Given the description of an element on the screen output the (x, y) to click on. 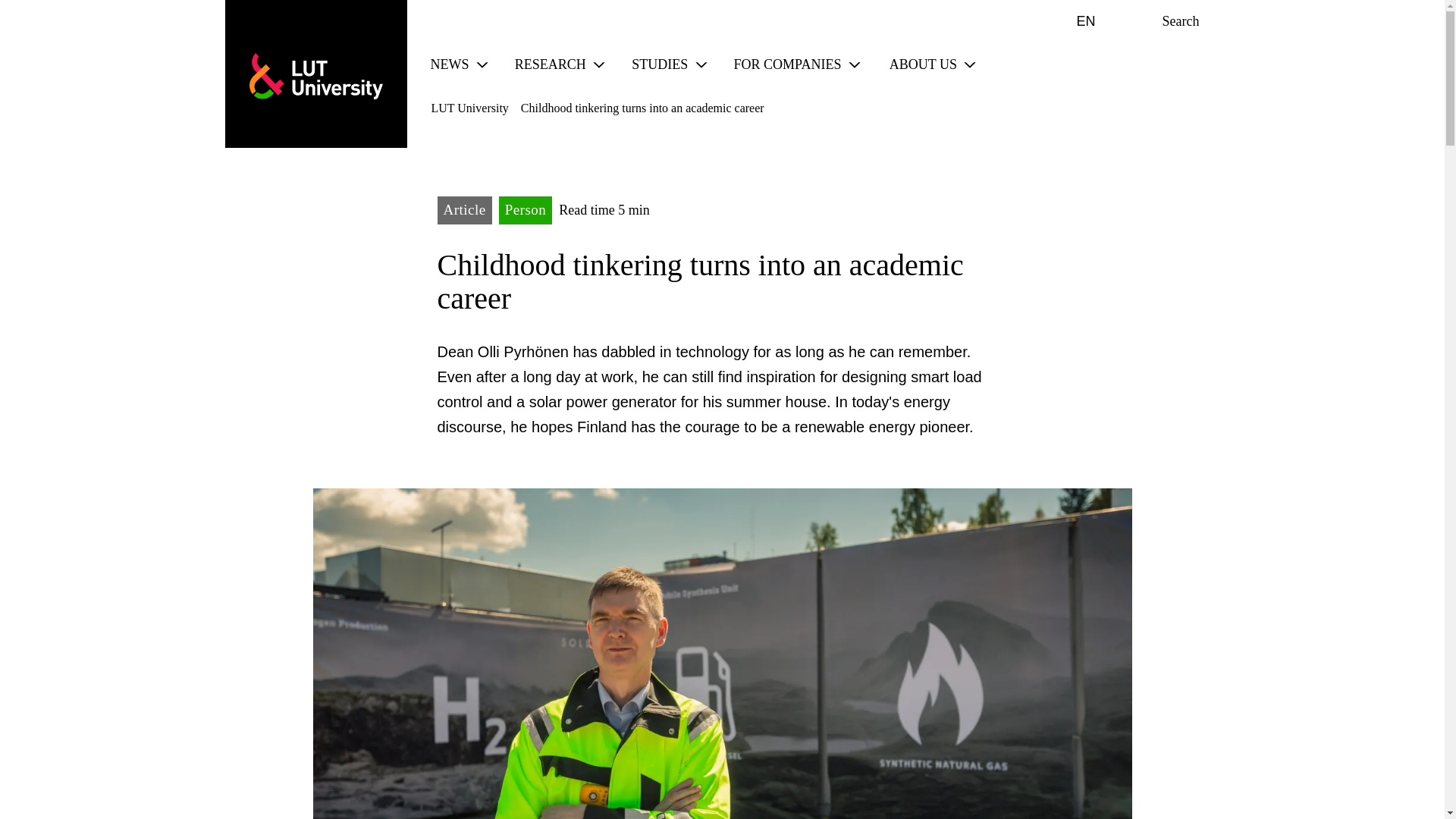
Open next menu level (482, 65)
Home page (314, 76)
Get to know us (918, 64)
RESEARCH (545, 64)
Open next menu level (598, 65)
NEWS (446, 64)
News and events (1074, 21)
Studies (446, 64)
Research (655, 64)
Cooperation and services (545, 64)
LUT University (783, 64)
Search (314, 76)
